Given the description of an element on the screen output the (x, y) to click on. 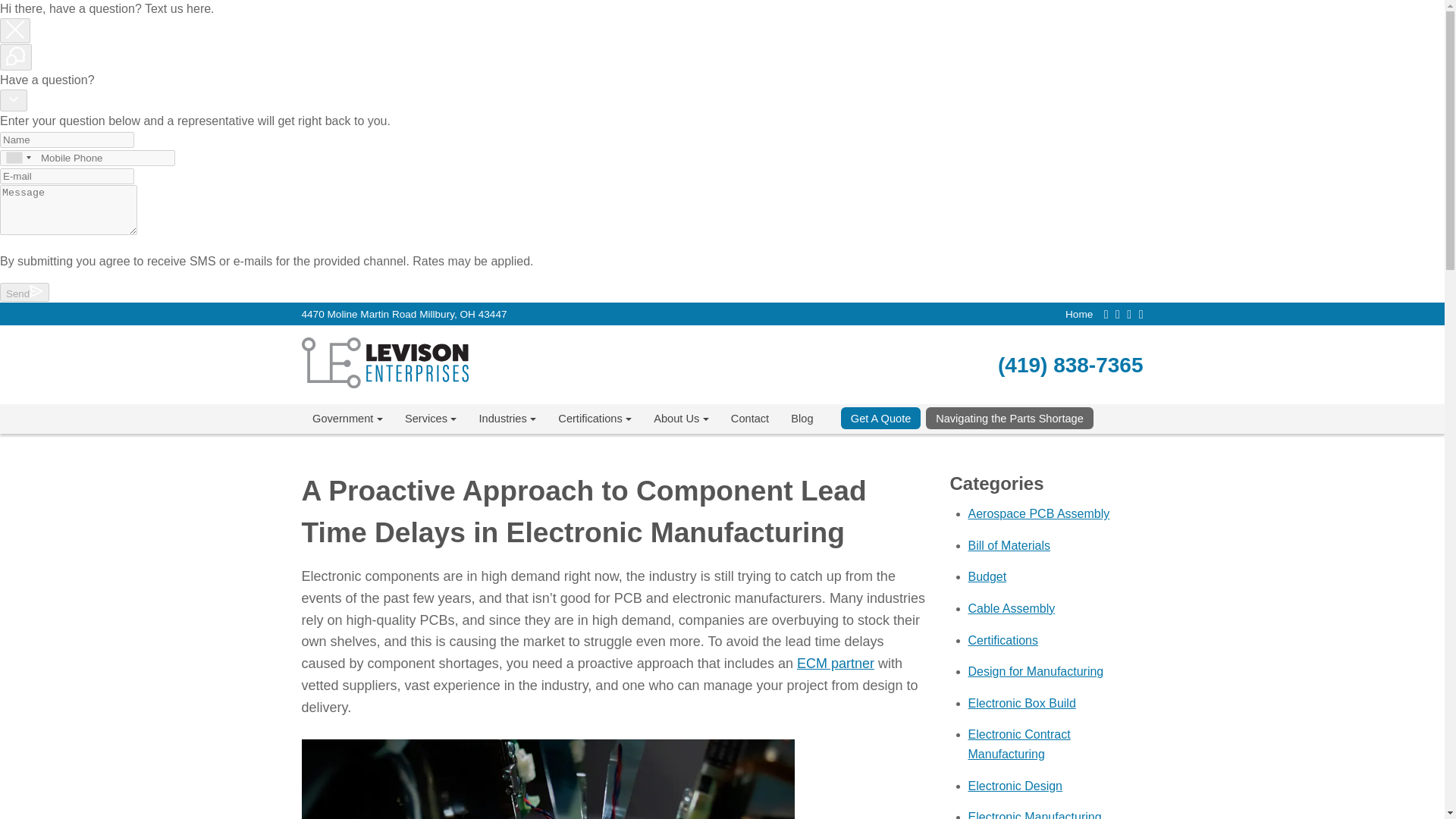
Industries (507, 418)
View Our Youtube Page (1128, 314)
Blog (802, 418)
Government (347, 418)
Contact (748, 418)
About Us (681, 418)
Certifications (595, 418)
Services (430, 418)
Follow us Facebook (1105, 314)
Click to Call (1069, 365)
View our LinkedIn Profile (1140, 314)
Home (1079, 314)
Follow us On Twitter (1117, 314)
